Given the description of an element on the screen output the (x, y) to click on. 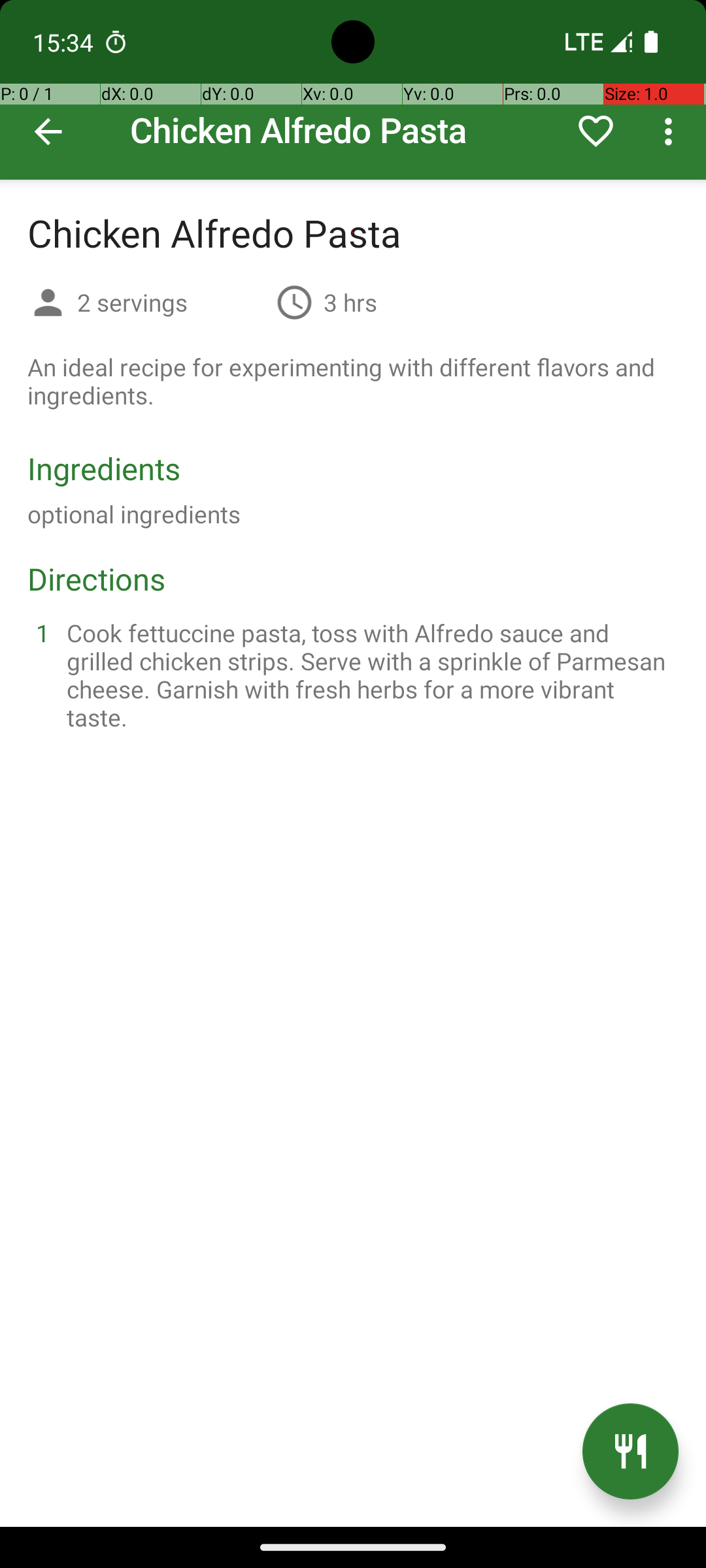
Cook fettuccine pasta, toss with Alfredo sauce and grilled chicken strips. Serve with a sprinkle of Parmesan cheese. Garnish with fresh herbs for a more vibrant taste. Element type: android.widget.TextView (368, 674)
